Given the description of an element on the screen output the (x, y) to click on. 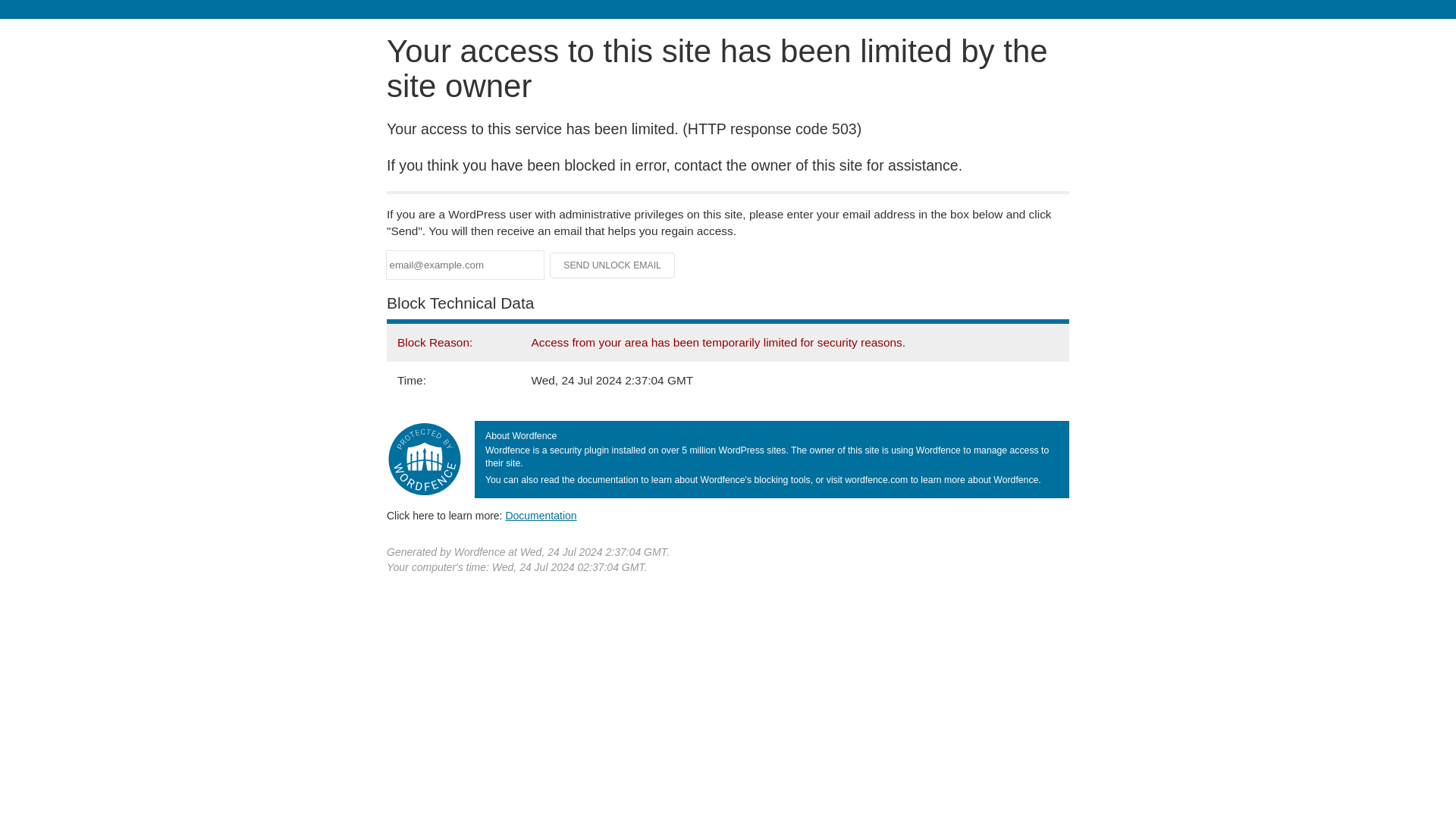
Documentation (540, 515)
Send Unlock Email (612, 265)
Send Unlock Email (612, 265)
